Given the description of an element on the screen output the (x, y) to click on. 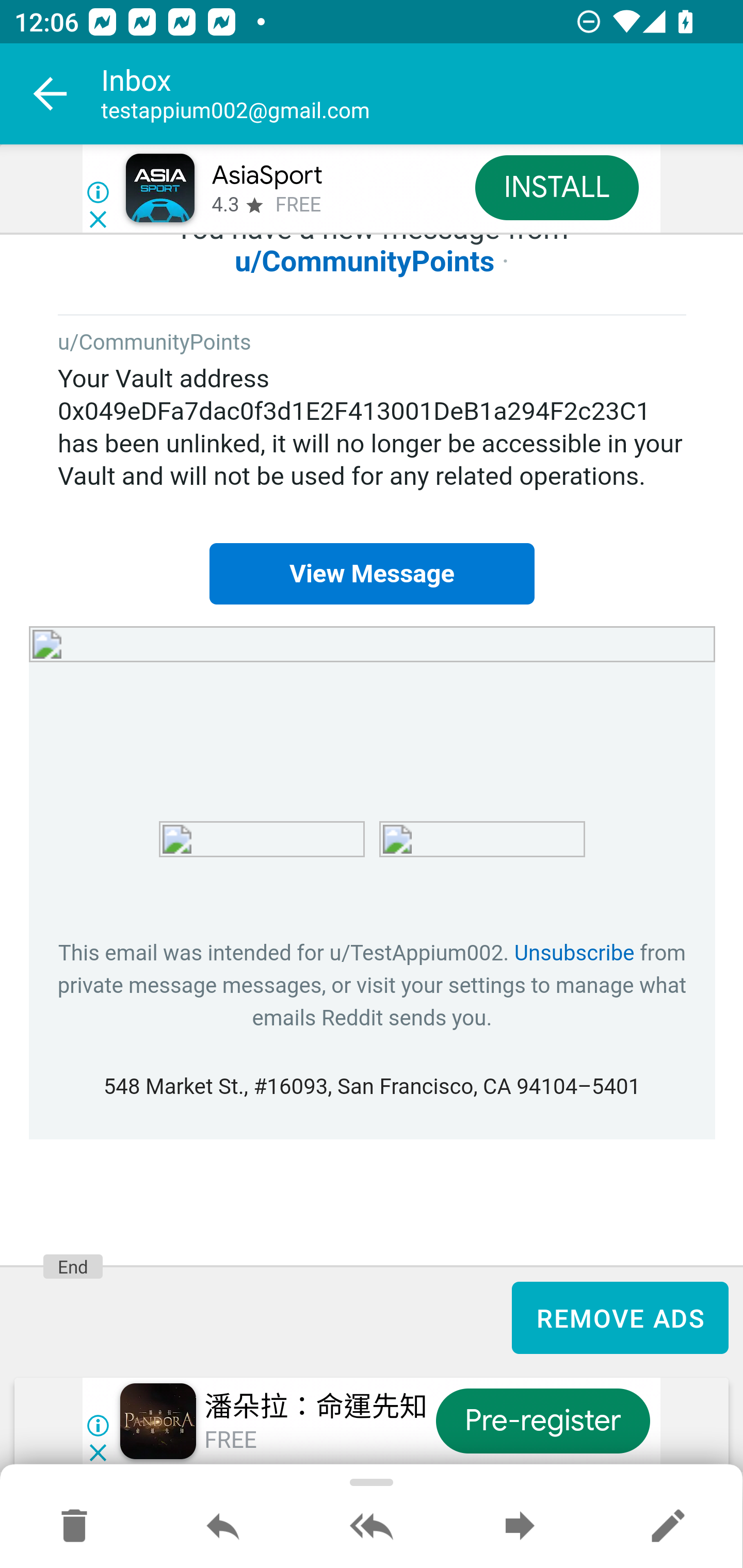
Navigate up (50, 93)
Inbox testappium002@gmail.com (422, 93)
INSTALL (556, 187)
AsiaSport (267, 175)
4.3 (224, 204)
FREE (298, 204)
u/CommunityPoints (364, 261)
u/CommunityPoints (154, 343)
View Message (371, 574)
UYHsm_VYdYvrX6v8bW6ZUcCFyZNFLLb_4kchyJ3FWK8=343 (372, 699)
EujroCXblHV7QmxX79-wCVmdCKMOt7sjGo0fcibRsJE=343 (262, 853)
8oSRNznEcjfFEz10hD0jhnDrjJg-CZ6zTGBo1DUIwDE=343 (481, 853)
Unsubscribe (574, 953)
REMOVE ADS (619, 1317)
潘朵拉：命運先知 (316, 1407)
Pre-register (542, 1421)
FREE (230, 1440)
Move to Deleted (74, 1527)
Reply (222, 1527)
Reply all (371, 1527)
Forward (519, 1527)
Reply as new (667, 1527)
